Given the description of an element on the screen output the (x, y) to click on. 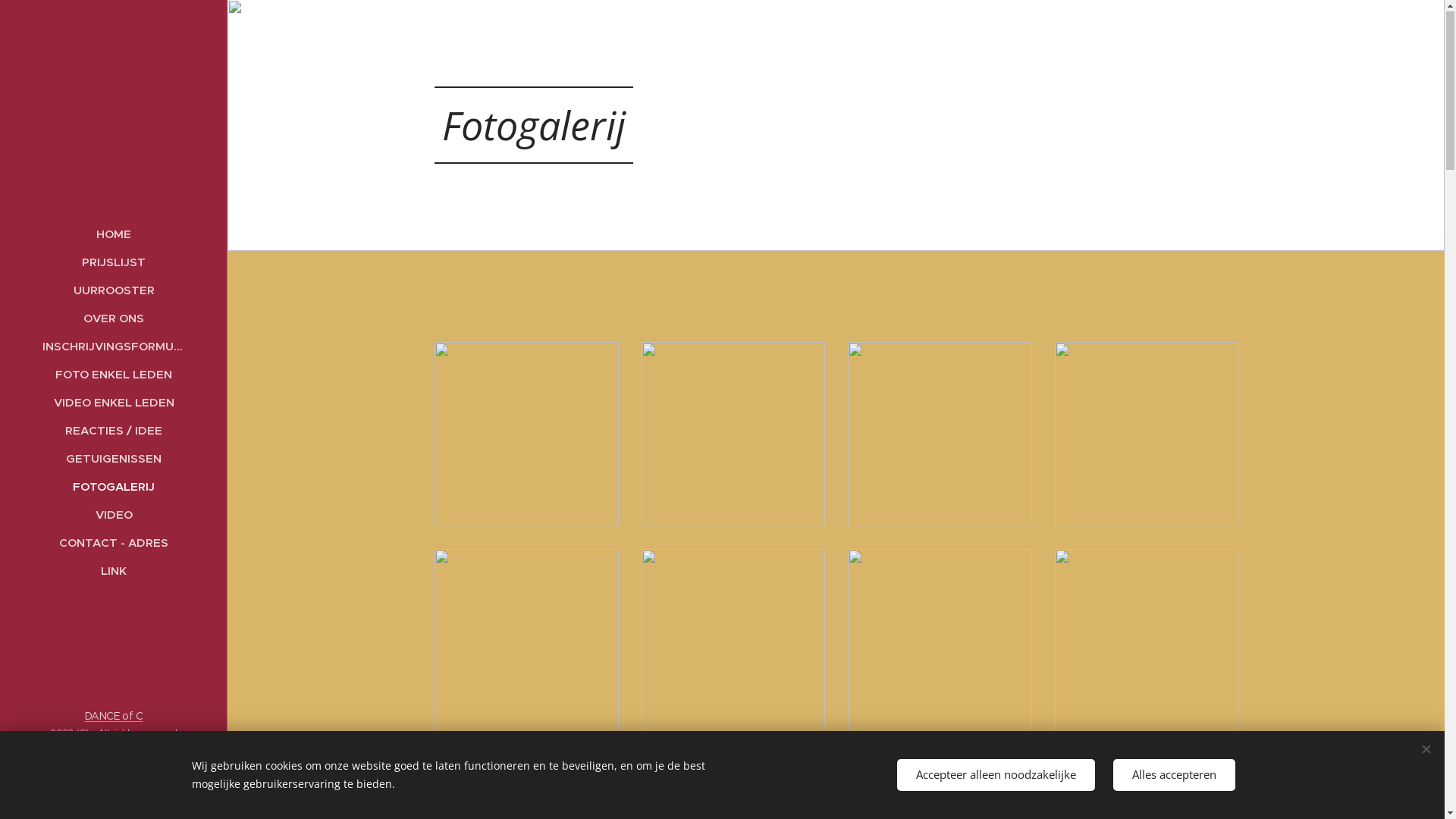
UURROOSTER Element type: text (113, 290)
Alles accepteren Element type: text (1174, 774)
REACTIES / IDEE Element type: text (113, 430)
DANCE of C Element type: text (113, 716)
Accepteer alleen noodzakelijke Element type: text (995, 774)
GETUIGENISSEN Element type: text (113, 458)
CONTACT - ADRES Element type: text (113, 543)
VIDEO Element type: text (113, 515)
Cookies Element type: text (113, 796)
PRIJSLIJST Element type: text (113, 262)
LINK Element type: text (113, 571)
HOME Element type: text (113, 234)
FOTO ENKEL LEDEN Element type: text (113, 374)
FOTOGALERIJ Element type: text (113, 486)
INSCHRIJVINGSFORMULIER Element type: text (113, 346)
VIDEO ENKEL LEDEN Element type: text (113, 402)
OVER ONS Element type: text (113, 318)
